Given the description of an element on the screen output the (x, y) to click on. 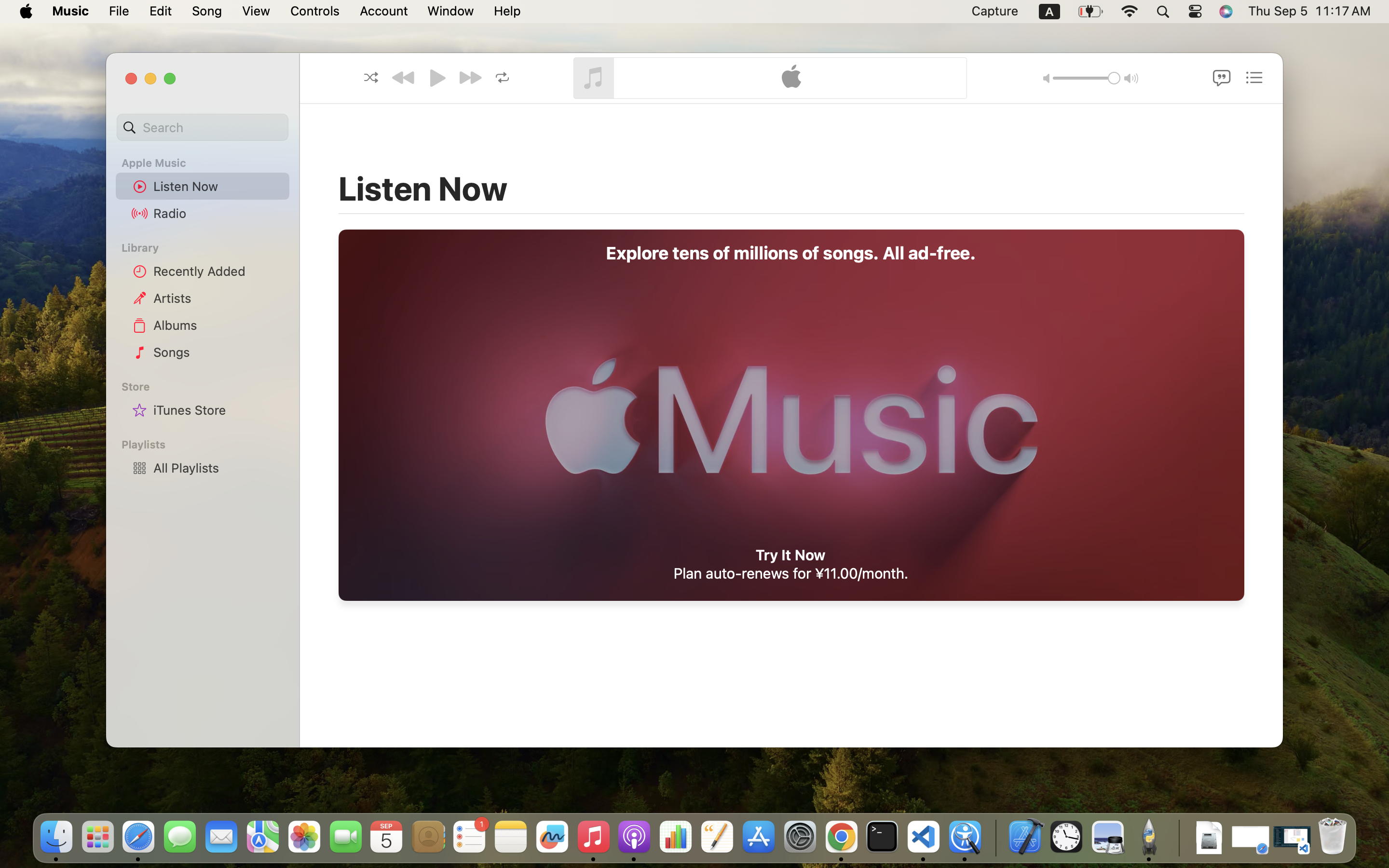
Plan auto-renews for ¥11.00/month. Element type: AXStaticText (790, 573)
Albums Element type: AXStaticText (217, 324)
All Playlists Element type: AXStaticText (217, 467)
1.0 Element type: AXSlider (1085, 77)
iTunes Store Element type: AXStaticText (217, 409)
